Given the description of an element on the screen output the (x, y) to click on. 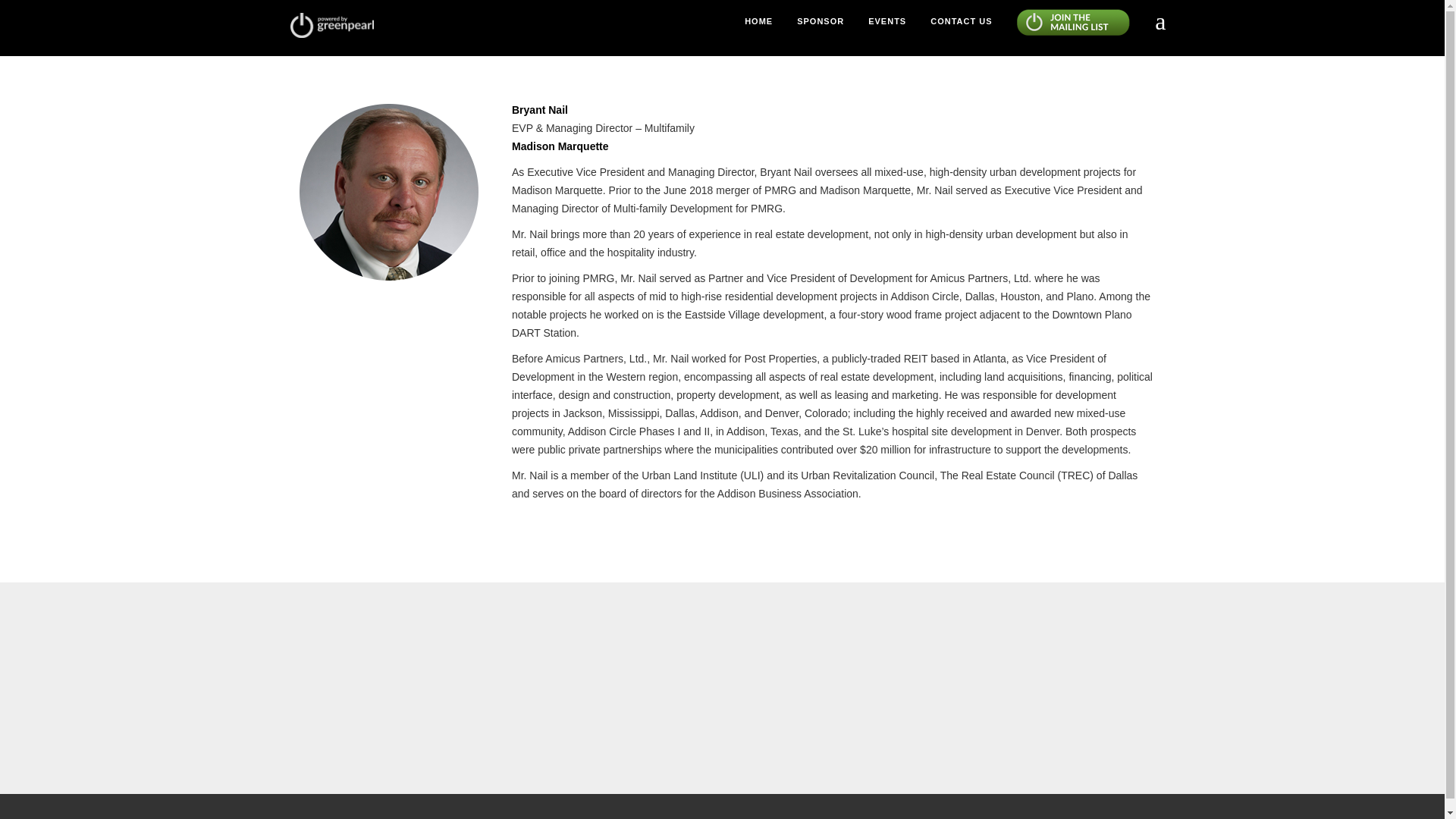
HOME (758, 31)
CONTACT US (960, 31)
Bryant Nail (389, 191)
EVENTS (886, 31)
SPONSOR (820, 31)
